Given the description of an element on the screen output the (x, y) to click on. 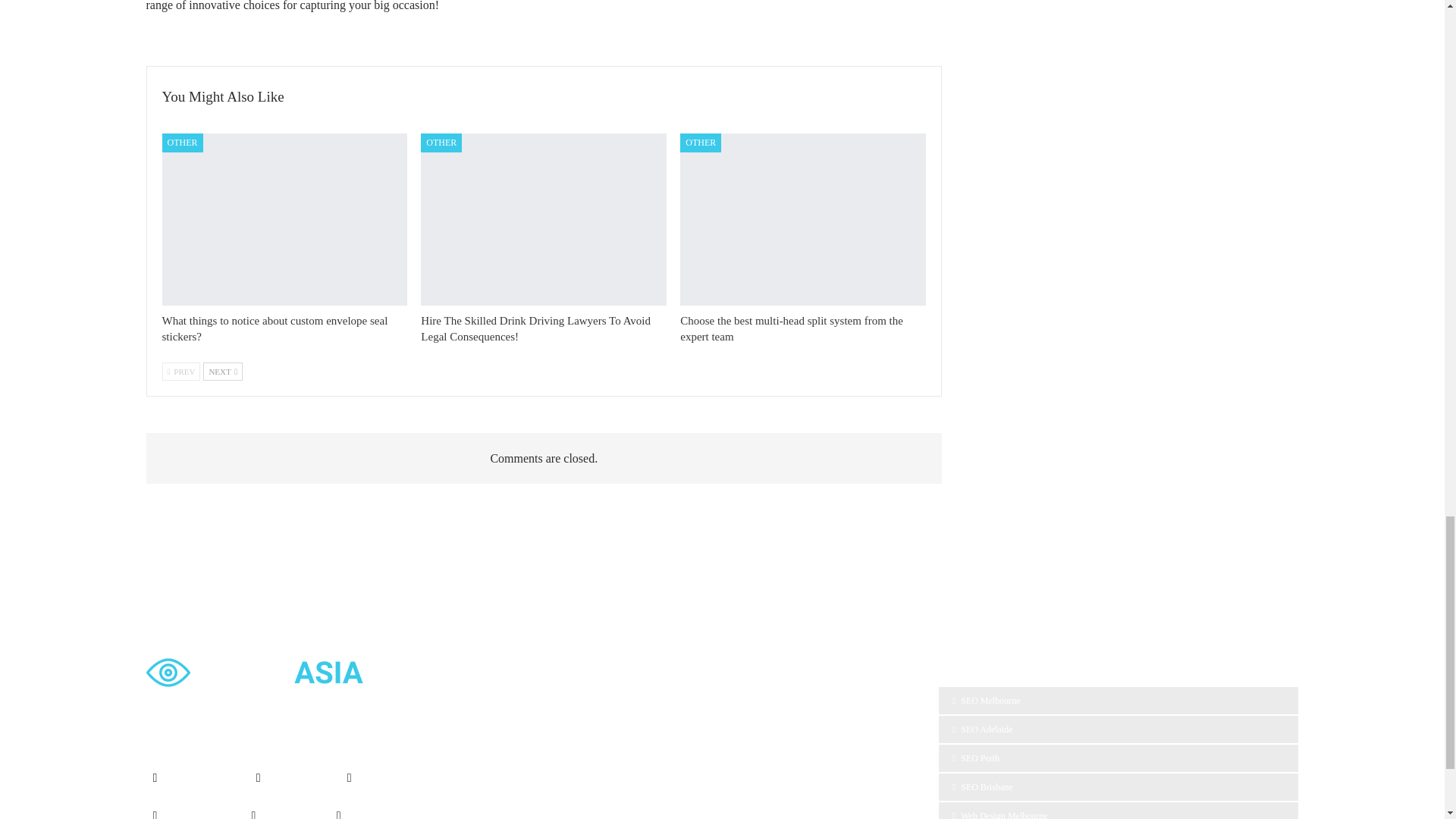
You Might Also Like (222, 97)
What things to notice about custom envelope seal stickers? (274, 328)
OTHER (182, 142)
